Given the description of an element on the screen output the (x, y) to click on. 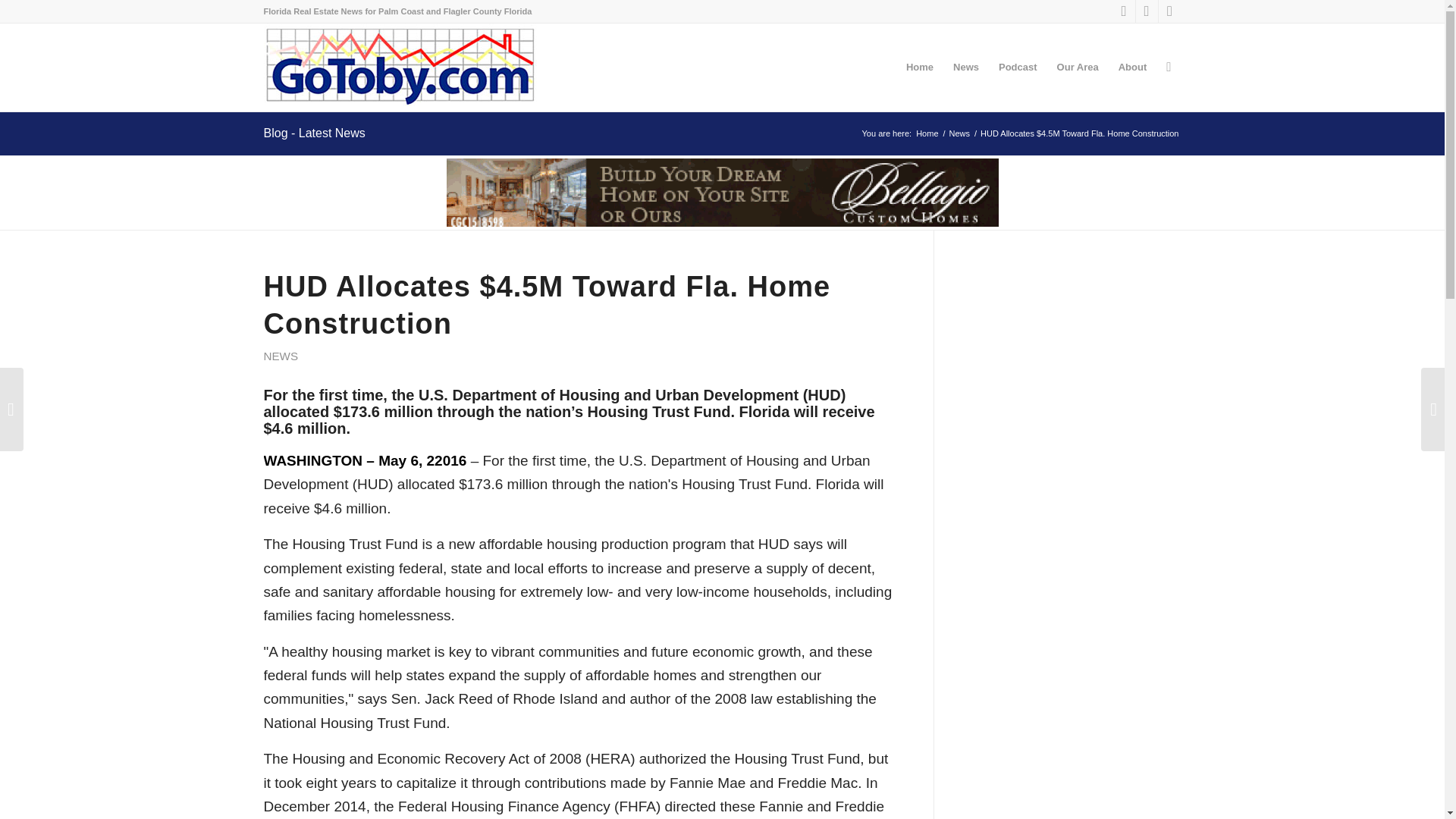
NEWS (280, 355)
News (959, 133)
Permanent Link: Blog - Latest News (314, 132)
Go Toby (927, 133)
Twitter (1146, 11)
Facebook (1124, 11)
Blog - Latest News (314, 132)
Home (927, 133)
LinkedIn (1169, 11)
